Given the description of an element on the screen output the (x, y) to click on. 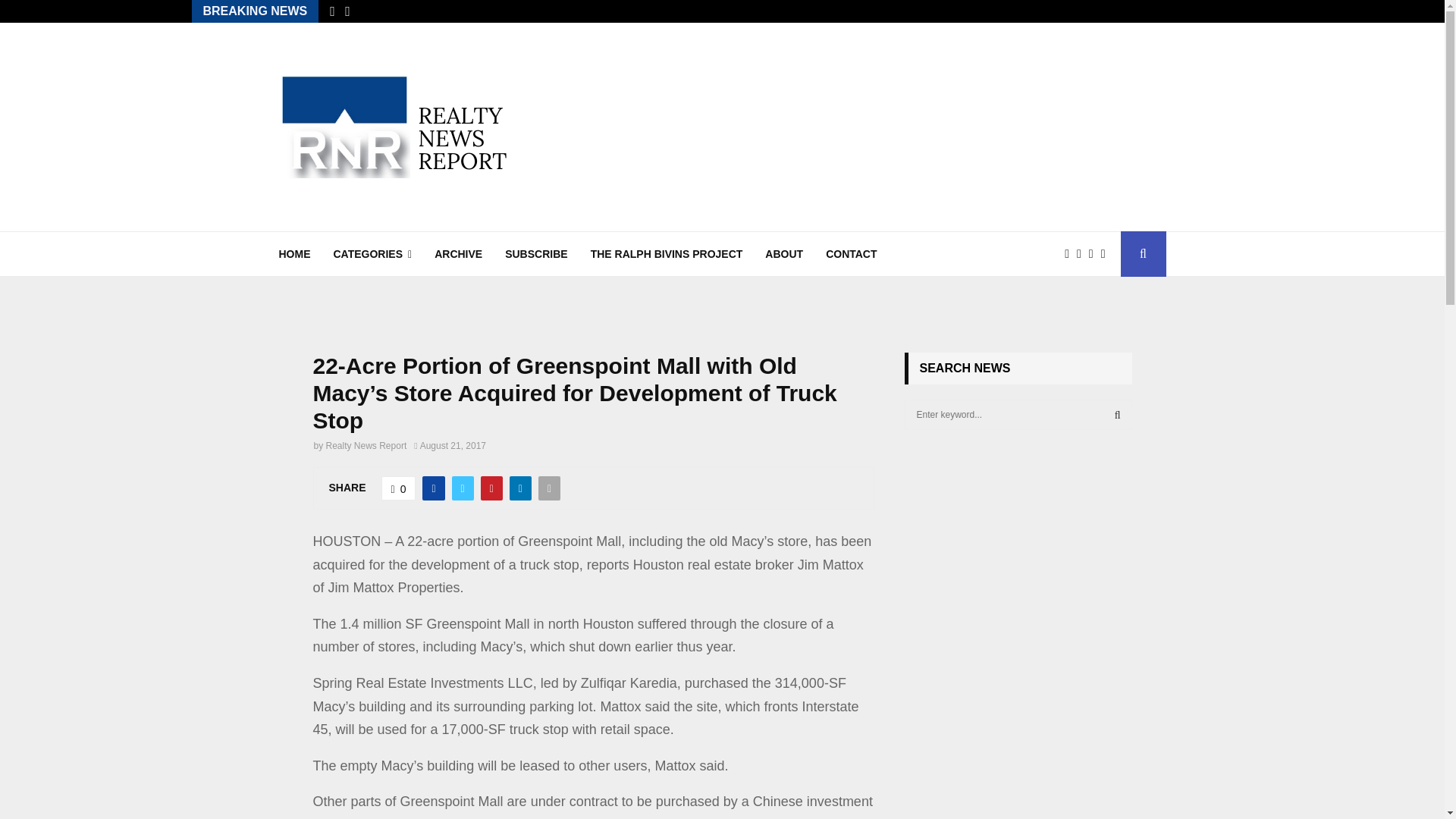
CONTACT (850, 253)
Like (398, 487)
CATEGORIES (372, 253)
ARCHIVE (457, 253)
THE RALPH BIVINS PROJECT (666, 253)
SUBSCRIBE (536, 253)
